Given the description of an element on the screen output the (x, y) to click on. 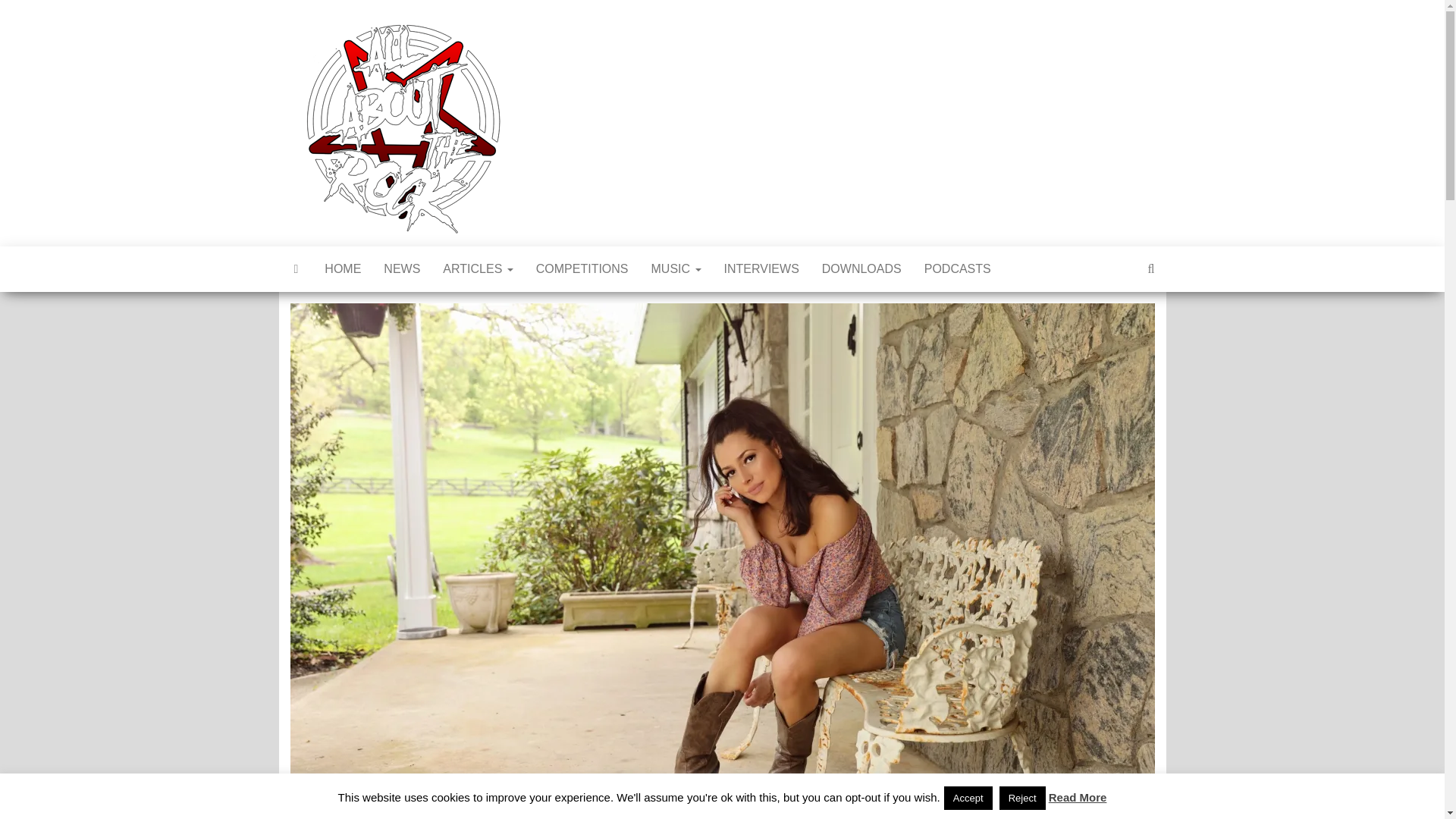
COMPETITIONS (582, 268)
News (401, 268)
Articles (477, 268)
PODCASTS (957, 268)
Music (676, 268)
NEWS (401, 268)
Downloads (861, 268)
DOWNLOADS (861, 268)
Home (342, 268)
ARTICLES (477, 268)
MUSIC (676, 268)
Interviews (761, 268)
Competitions (582, 268)
INTERVIEWS (761, 268)
HOME (342, 268)
